Given the description of an element on the screen output the (x, y) to click on. 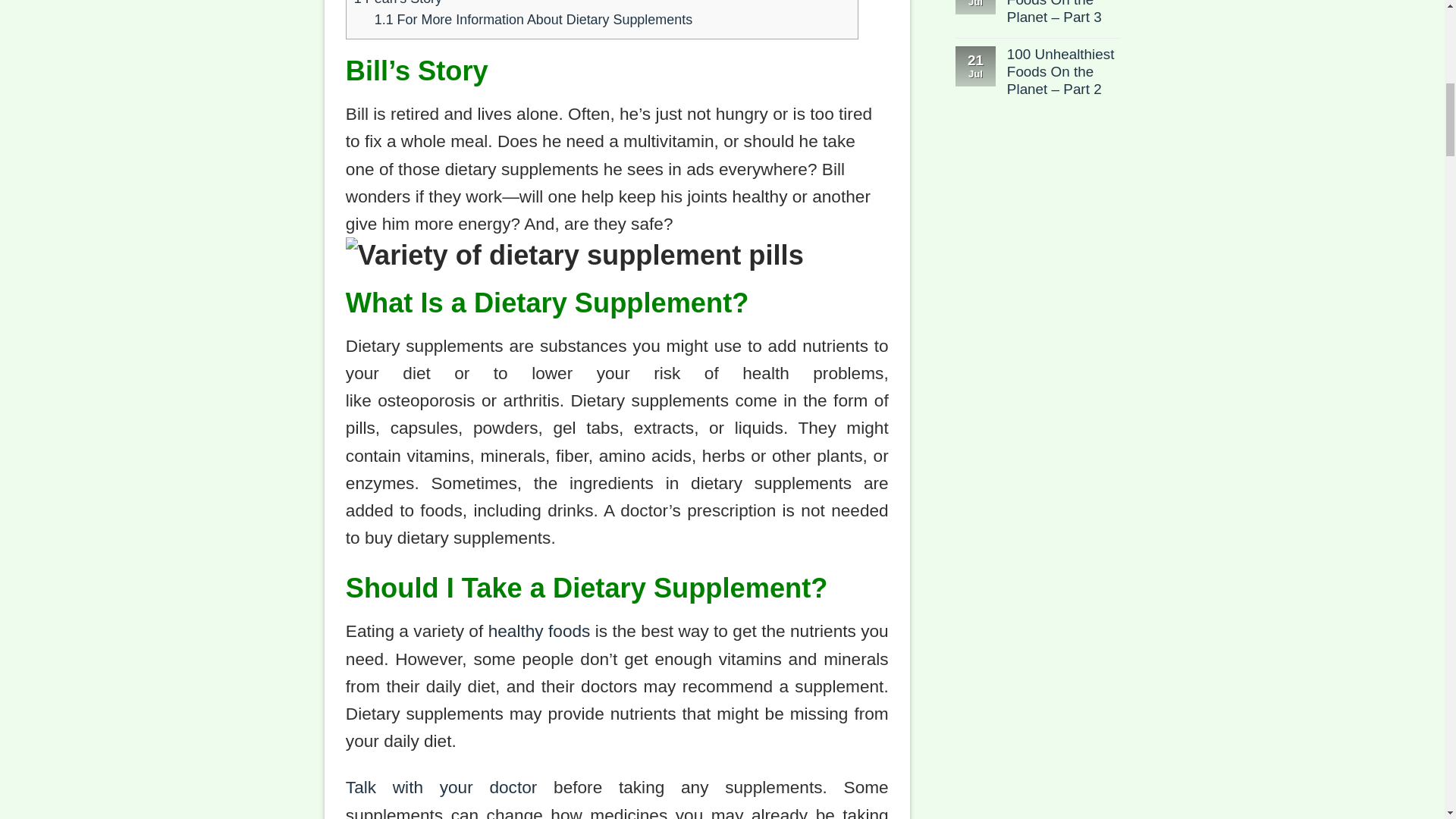
healthy foods (539, 630)
1.1 For More Information About Dietary Supplements (533, 19)
Talk with your doctor (441, 786)
Dietary Supplements 2 (617, 254)
